Given the description of an element on the screen output the (x, y) to click on. 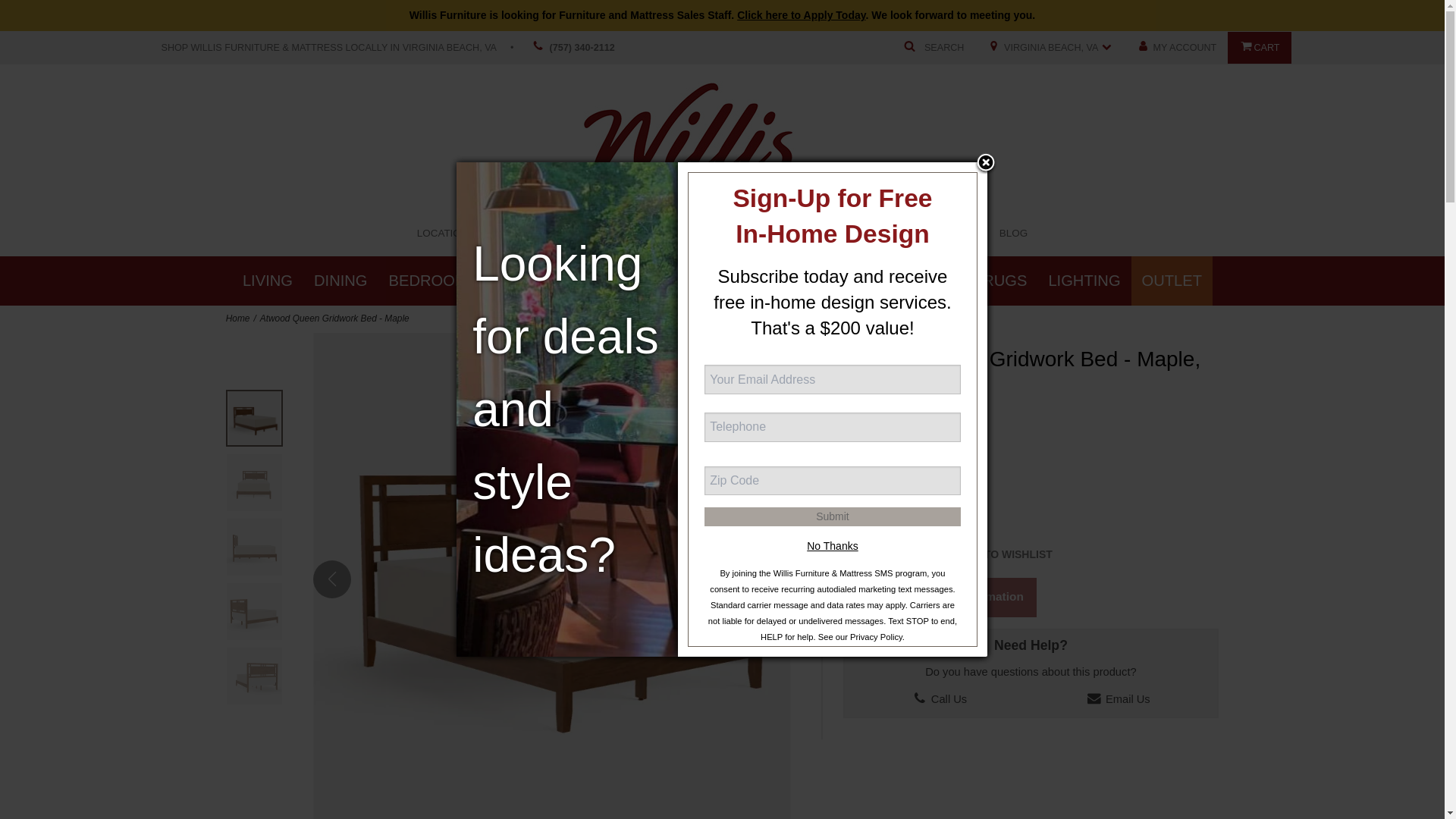
DESIGN SERVICES (728, 233)
Select Queen (870, 511)
LIVING (266, 280)
FINANCING (829, 233)
Pin This (865, 585)
BLOG (1012, 233)
CART (1258, 48)
Store details (1049, 48)
Click here to Apply Today (800, 15)
TRACK DELIVERY (928, 233)
LOCATION (442, 233)
MY ACCOUNT (1176, 48)
My Account (1176, 48)
View Cart (1258, 48)
PROMOTIONS (530, 233)
